Given the description of an element on the screen output the (x, y) to click on. 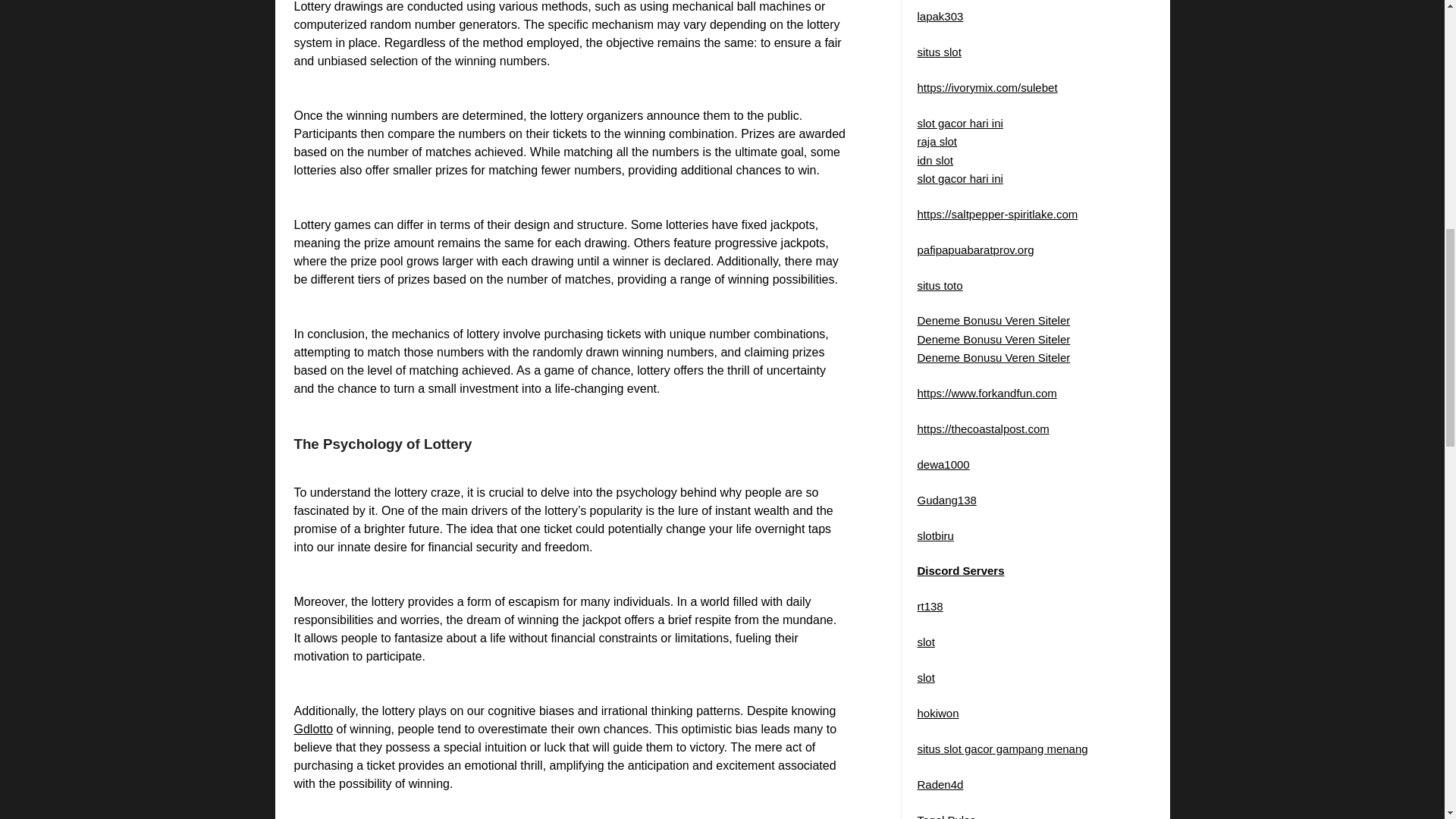
lapak303 (939, 15)
Deneme Bonusu Veren Siteler (993, 357)
pafipapuabaratprov.org (975, 249)
situs toto (939, 285)
idn slot (935, 159)
Deneme Bonusu Veren Siteler (993, 319)
slot gacor hari ini (960, 178)
slot gacor hari ini (960, 123)
situs slot (938, 51)
Gdlotto (313, 728)
